Given the description of an element on the screen output the (x, y) to click on. 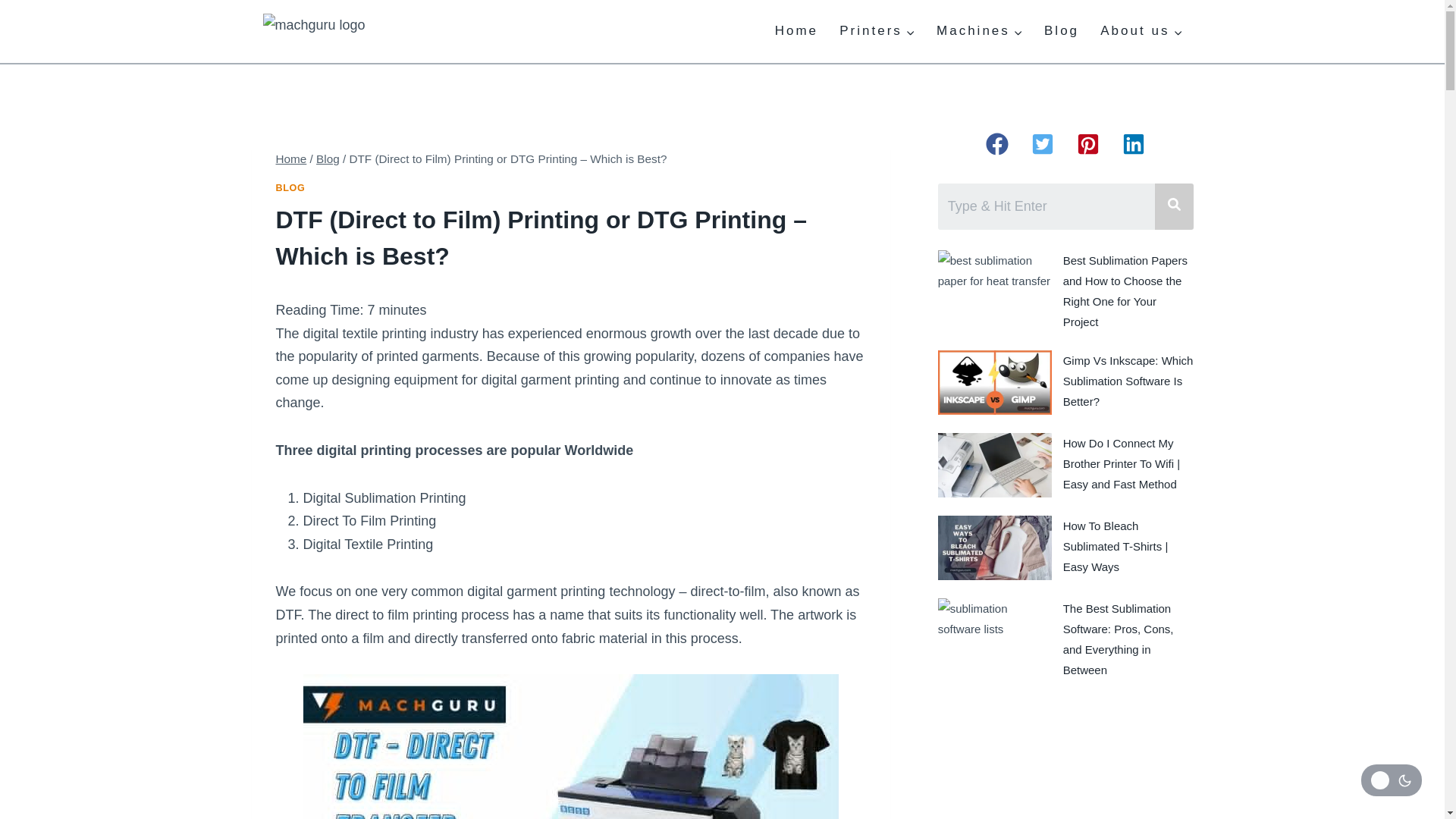
Machines (979, 31)
Home (796, 31)
About us (1140, 31)
Blog (327, 158)
BLOG (290, 187)
Blog (1061, 31)
Printers (877, 31)
Home (291, 158)
Search (1046, 206)
Advertisement (1065, 760)
